Given the description of an element on the screen output the (x, y) to click on. 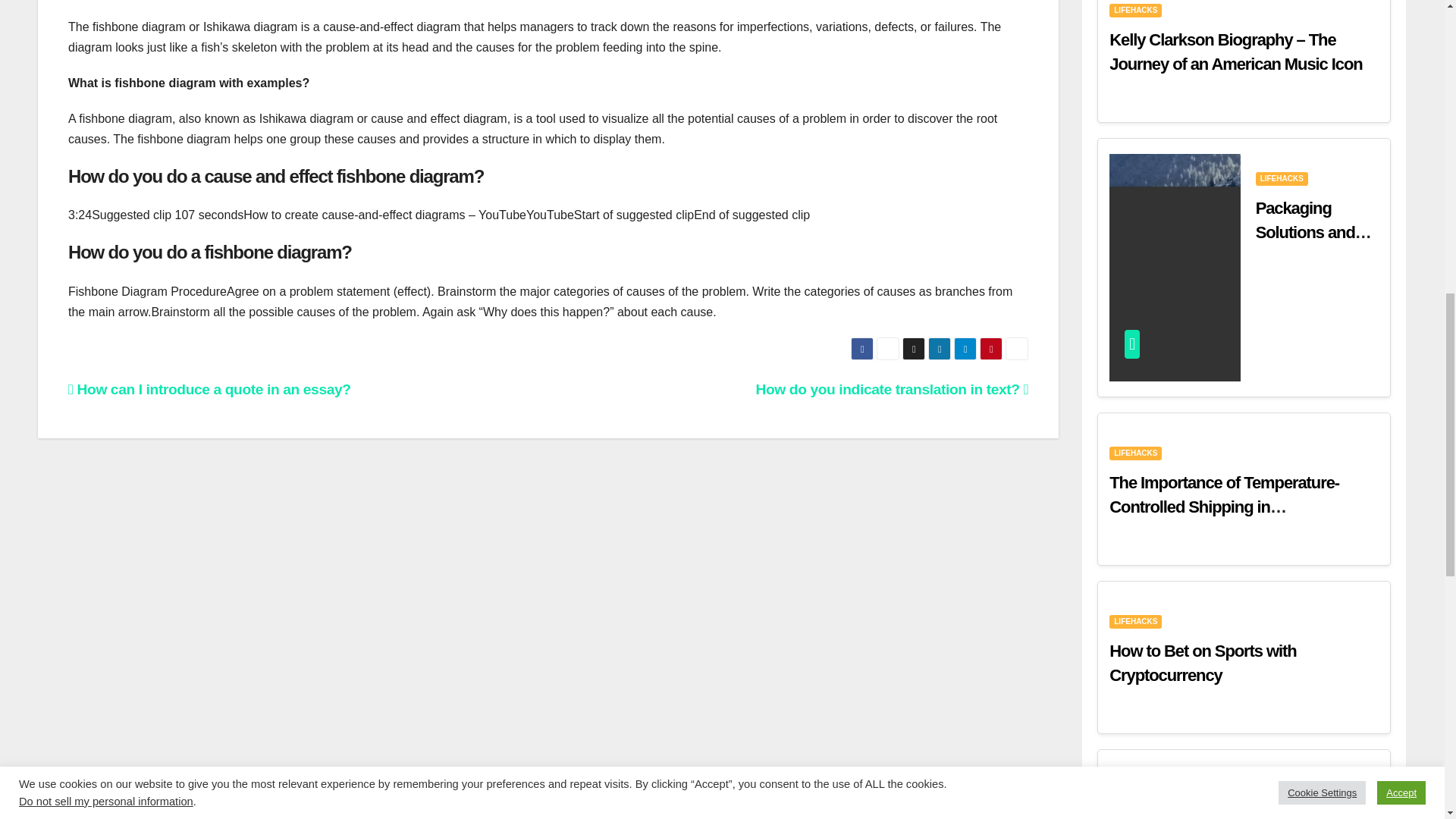
How do you indicate translation in text? (891, 389)
How can I introduce a quote in an essay? (209, 389)
